Given the description of an element on the screen output the (x, y) to click on. 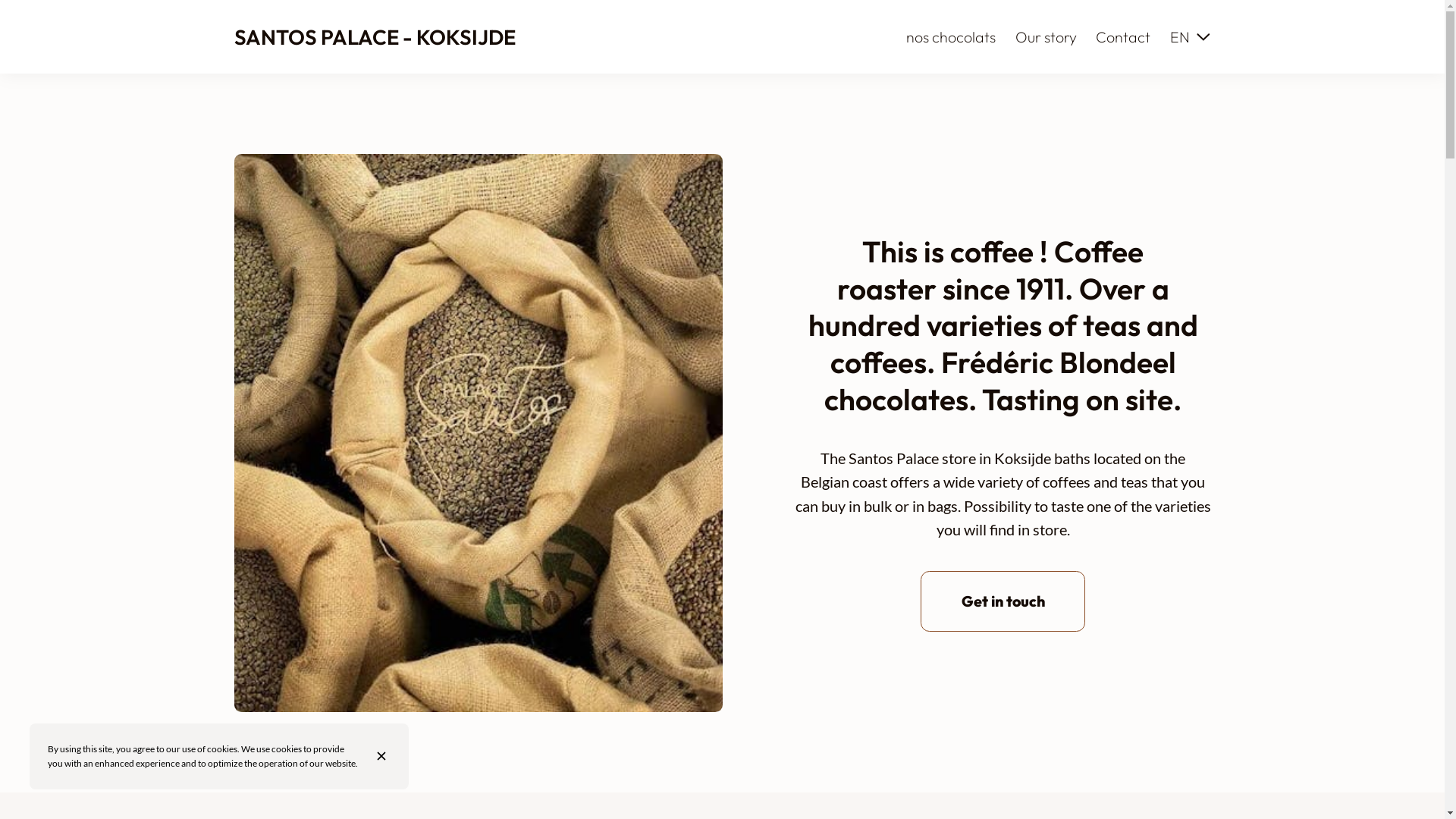
Our story Element type: text (1045, 36)
Contact Element type: text (1123, 36)
SANTOS PALACE - KOKSIJDE
SANTOS PALACE - KOKSIJDE Element type: text (373, 36)
EN Element type: text (1190, 37)
nos chocolats Element type: text (950, 36)
Close the cookie information banner Element type: hover (383, 755)
Picture of Santos Palace - Koksijde Element type: hover (477, 432)
Get in touch Element type: text (1002, 601)
